Given the description of an element on the screen output the (x, y) to click on. 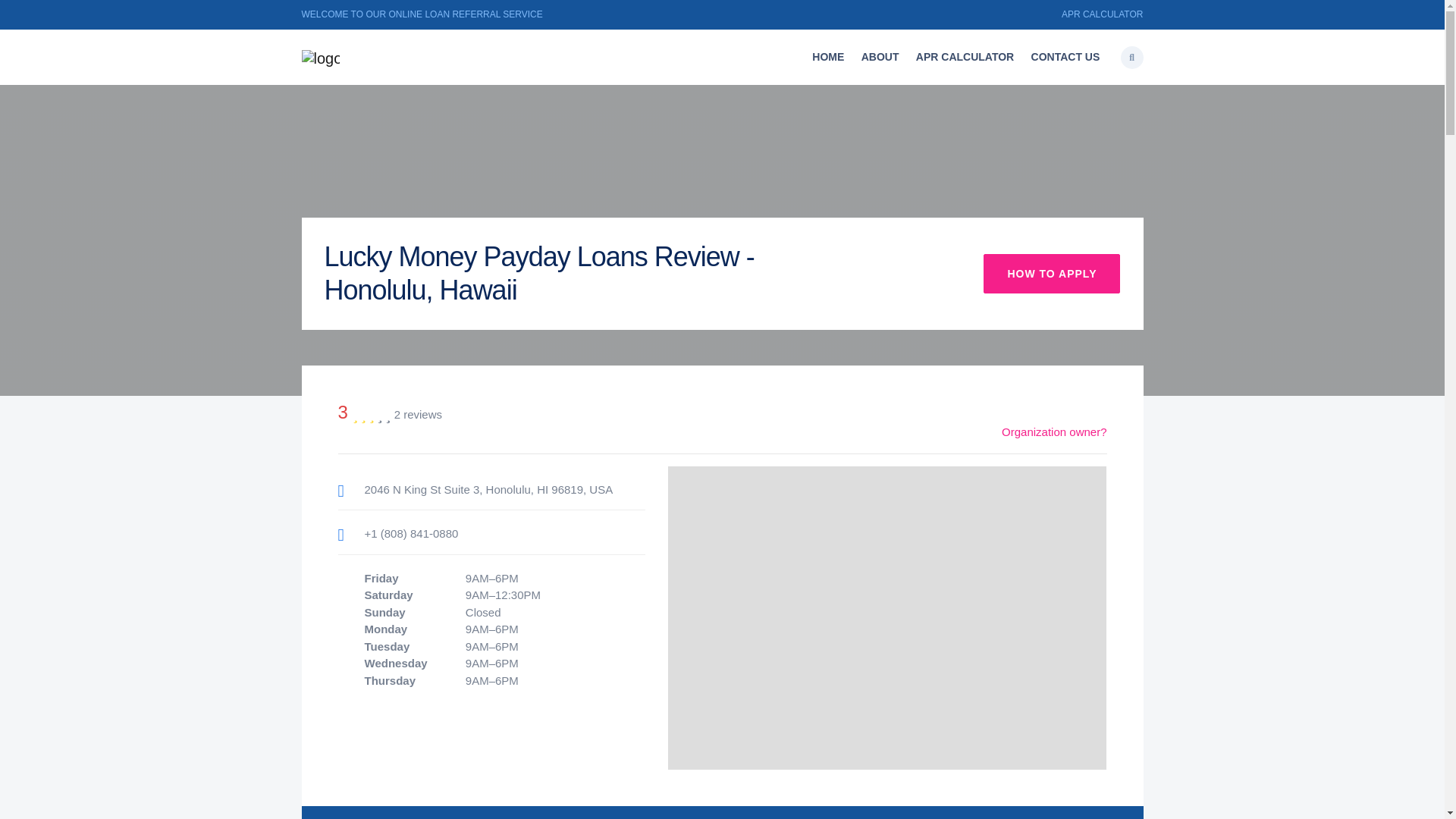
HOW TO APPLY (1051, 273)
ABOUT (879, 56)
HOME (827, 56)
CONTACT US (1065, 56)
Organization owner? (1053, 431)
APR CALCULATOR (1101, 14)
Organization owner? (1053, 431)
APR CALCULATOR (965, 56)
